Given the description of an element on the screen output the (x, y) to click on. 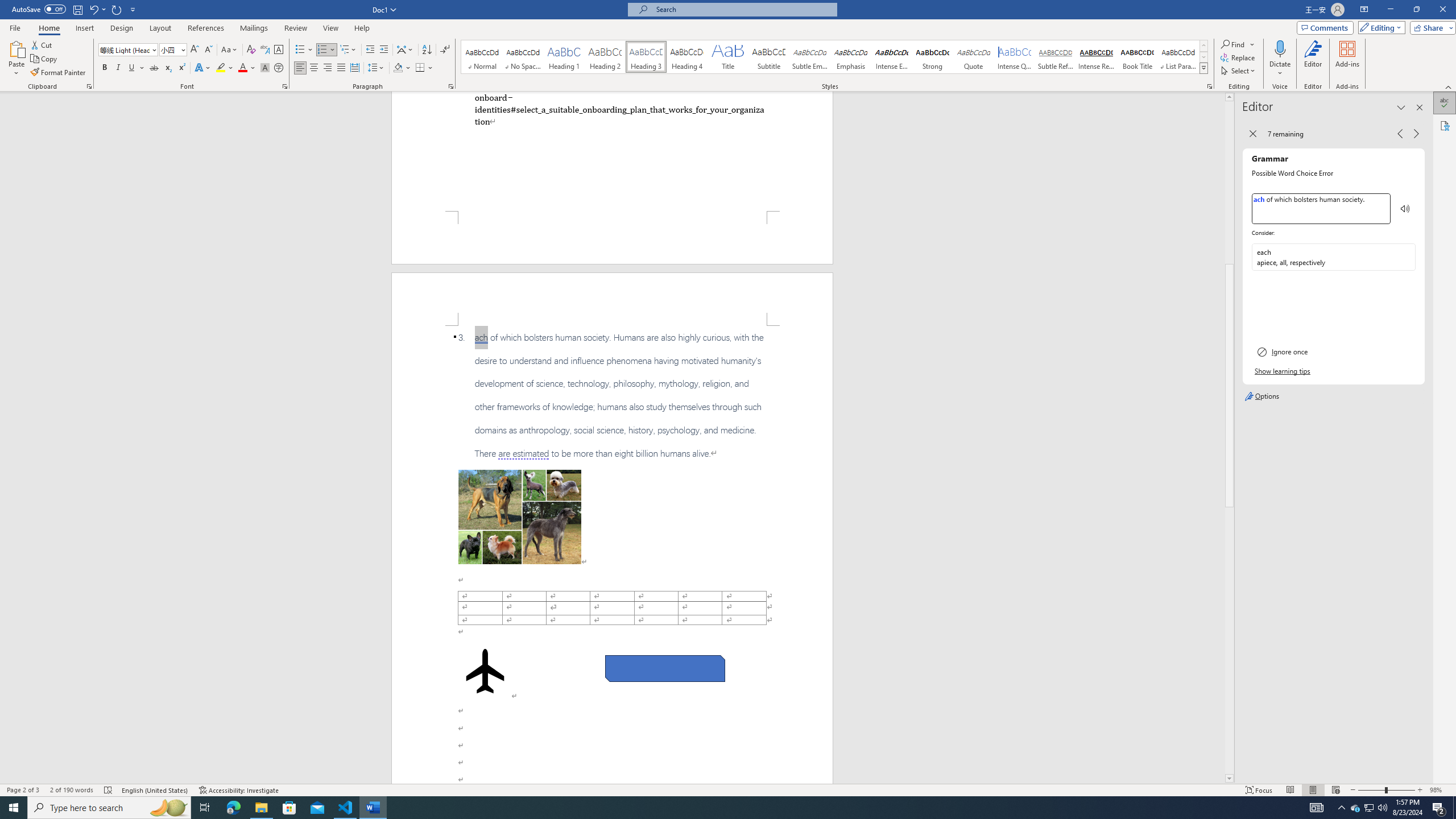
AutomationID: DrillInPane_ReadContext (1404, 208)
Styles... (1209, 85)
Asian Layout (405, 49)
Paragraph... (450, 85)
Review (295, 28)
2. (619, 108)
Clear Formatting (250, 49)
Font Color Automatic (241, 67)
AutomationID: QuickStylesGallery (834, 56)
AutoSave (38, 9)
Center (313, 67)
